Given the description of an element on the screen output the (x, y) to click on. 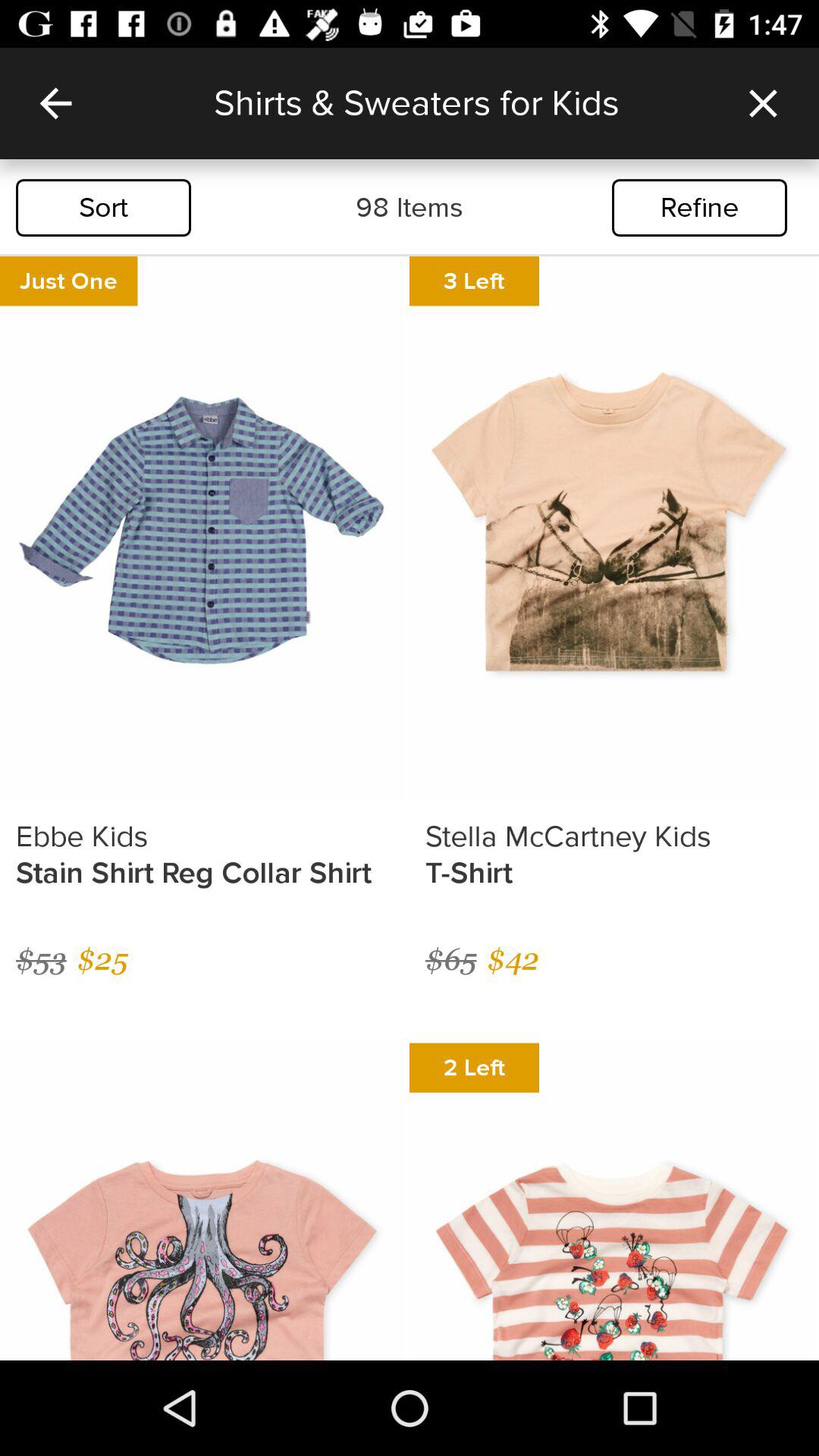
select the item next to sort (409, 207)
